Given the description of an element on the screen output the (x, y) to click on. 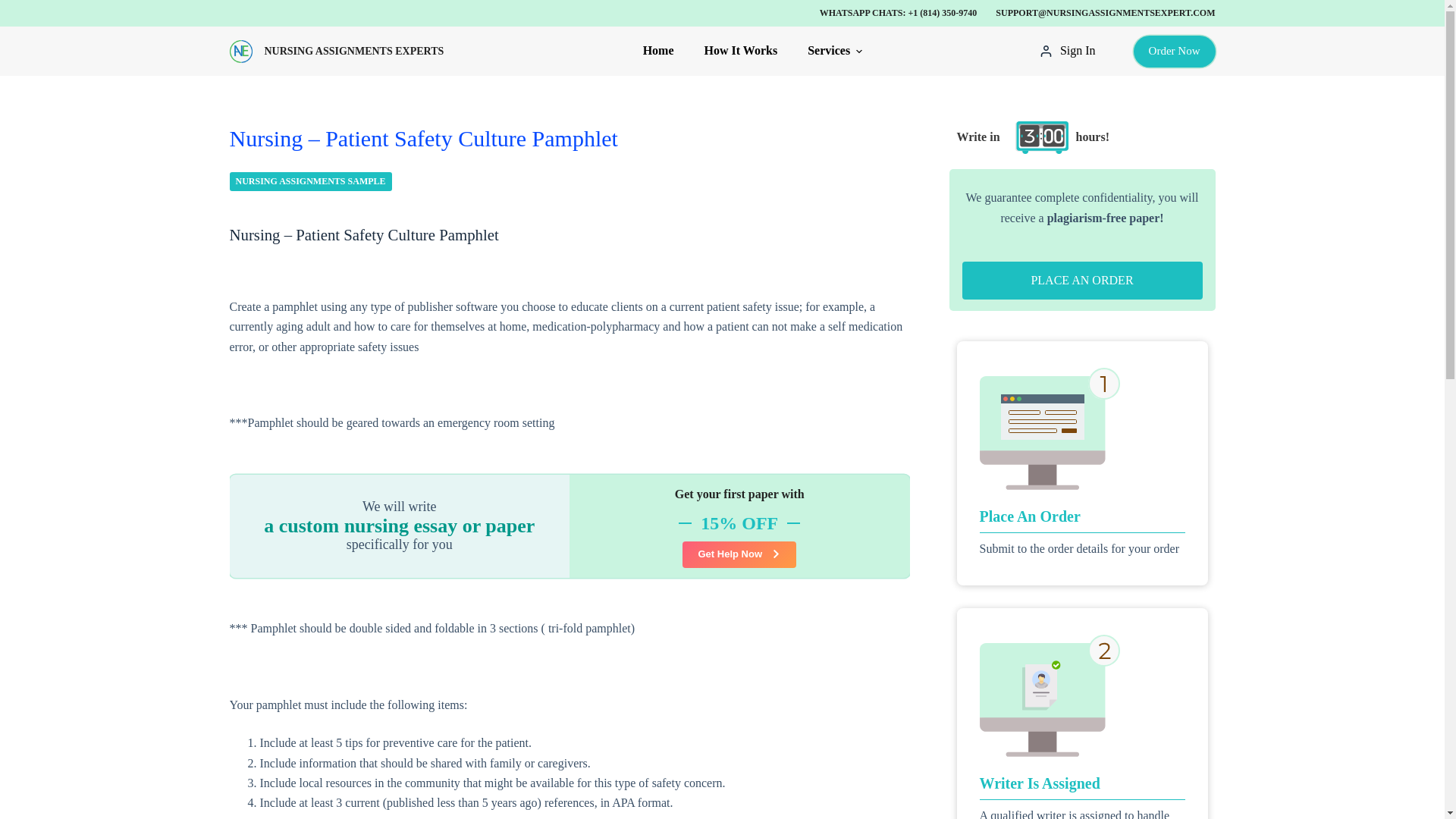
PLACE AN ORDER (1081, 280)
Sign In (1068, 50)
NURSING ASSIGNMENTS EXPERTS (353, 50)
Skip to content (15, 7)
Get Help Now (739, 554)
NURSING ASSIGNMENTS SAMPLE (309, 180)
Home (665, 50)
Services (826, 50)
How It Works (740, 50)
Order Now (1174, 50)
